Given the description of an element on the screen output the (x, y) to click on. 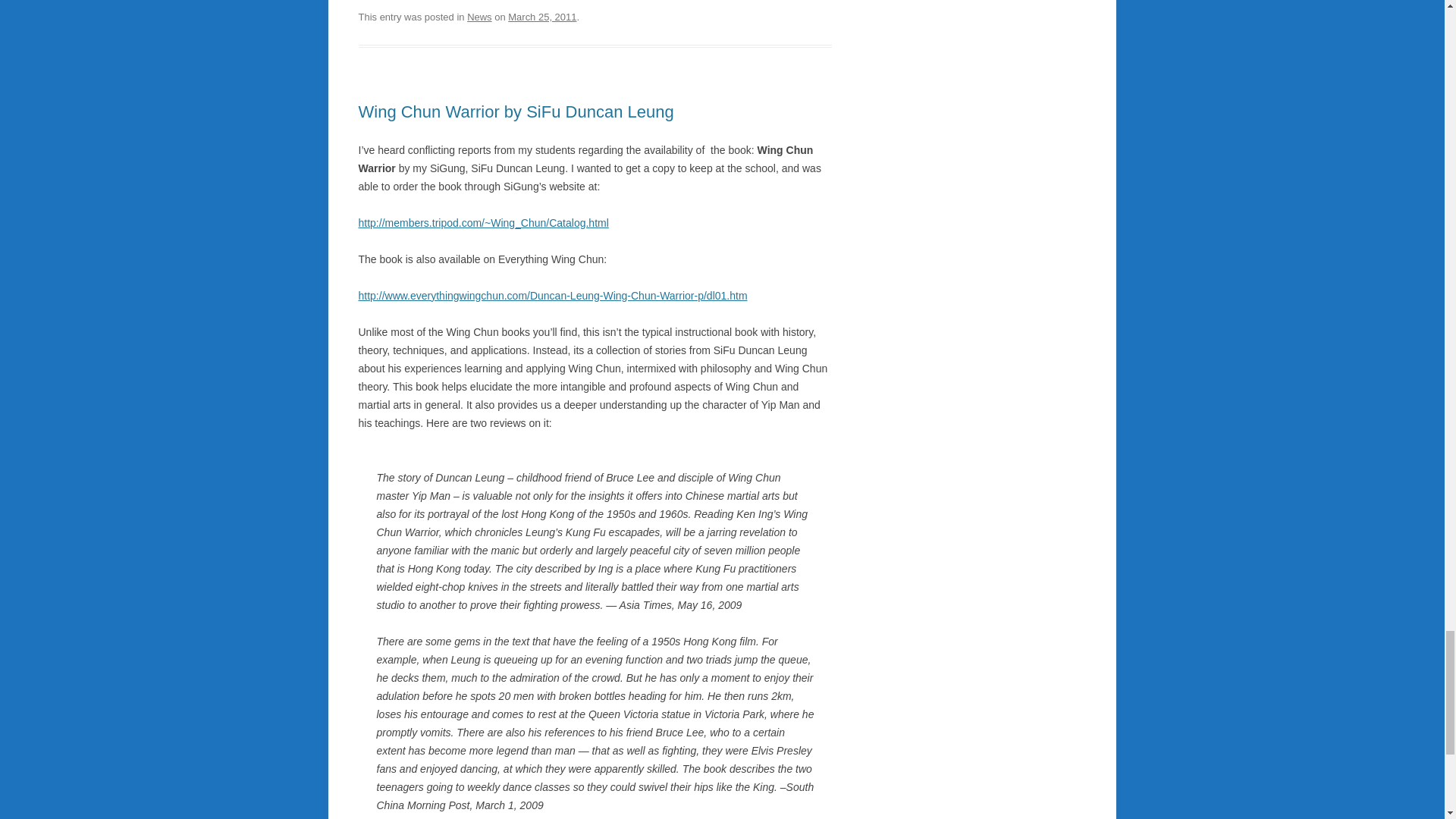
4:10 pm (542, 16)
Wing Chun Warrior by SiFu Duncan Leung (515, 111)
March 25, 2011 (542, 16)
News (479, 16)
